Given the description of an element on the screen output the (x, y) to click on. 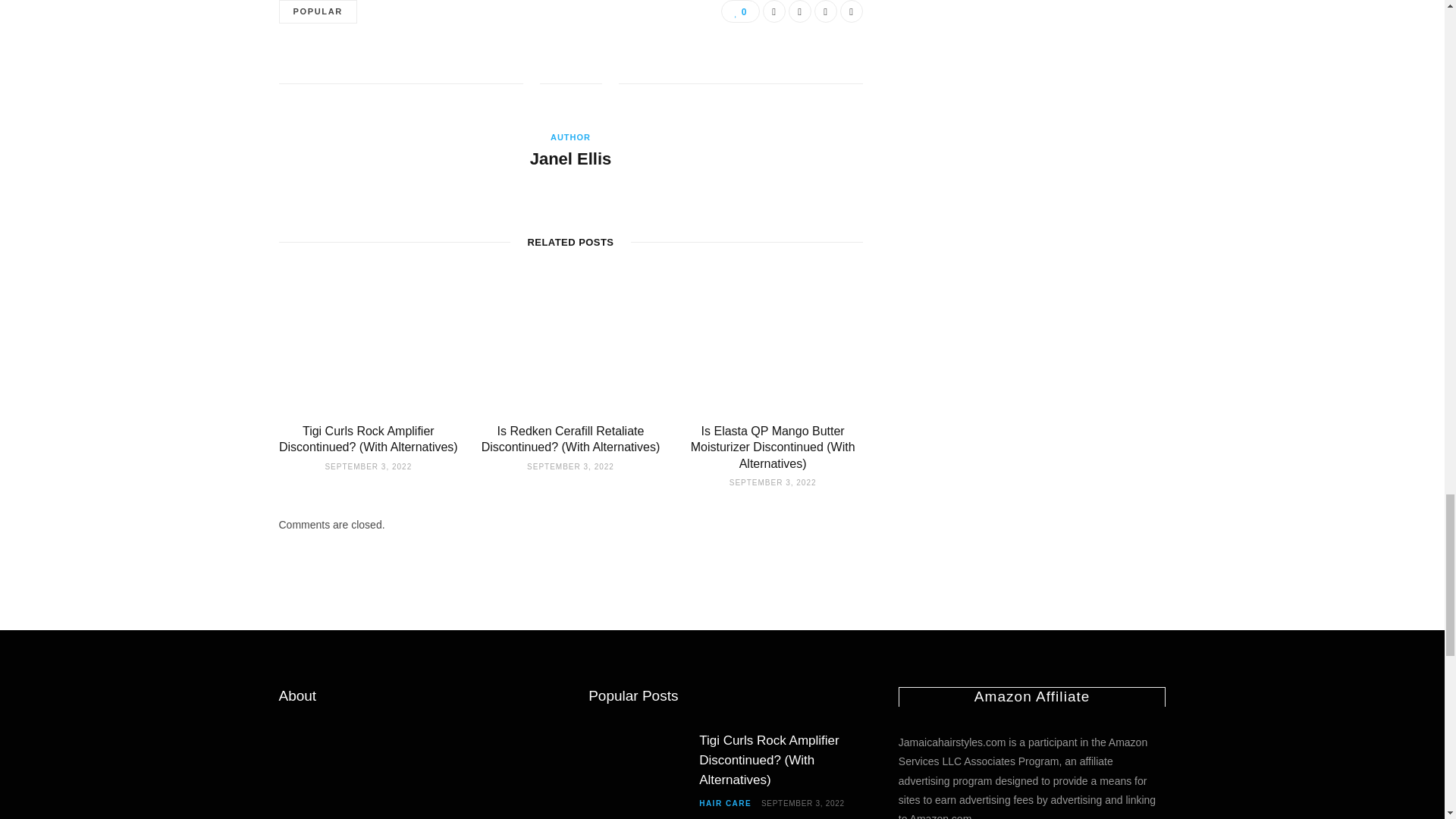
Janel Ellis (570, 159)
Share on Facebook (774, 11)
Pinterest (825, 11)
Email (851, 11)
0 (739, 11)
Posts by Janel Ellis (570, 159)
Share on Twitter (799, 11)
POPULAR (317, 11)
